Given the description of an element on the screen output the (x, y) to click on. 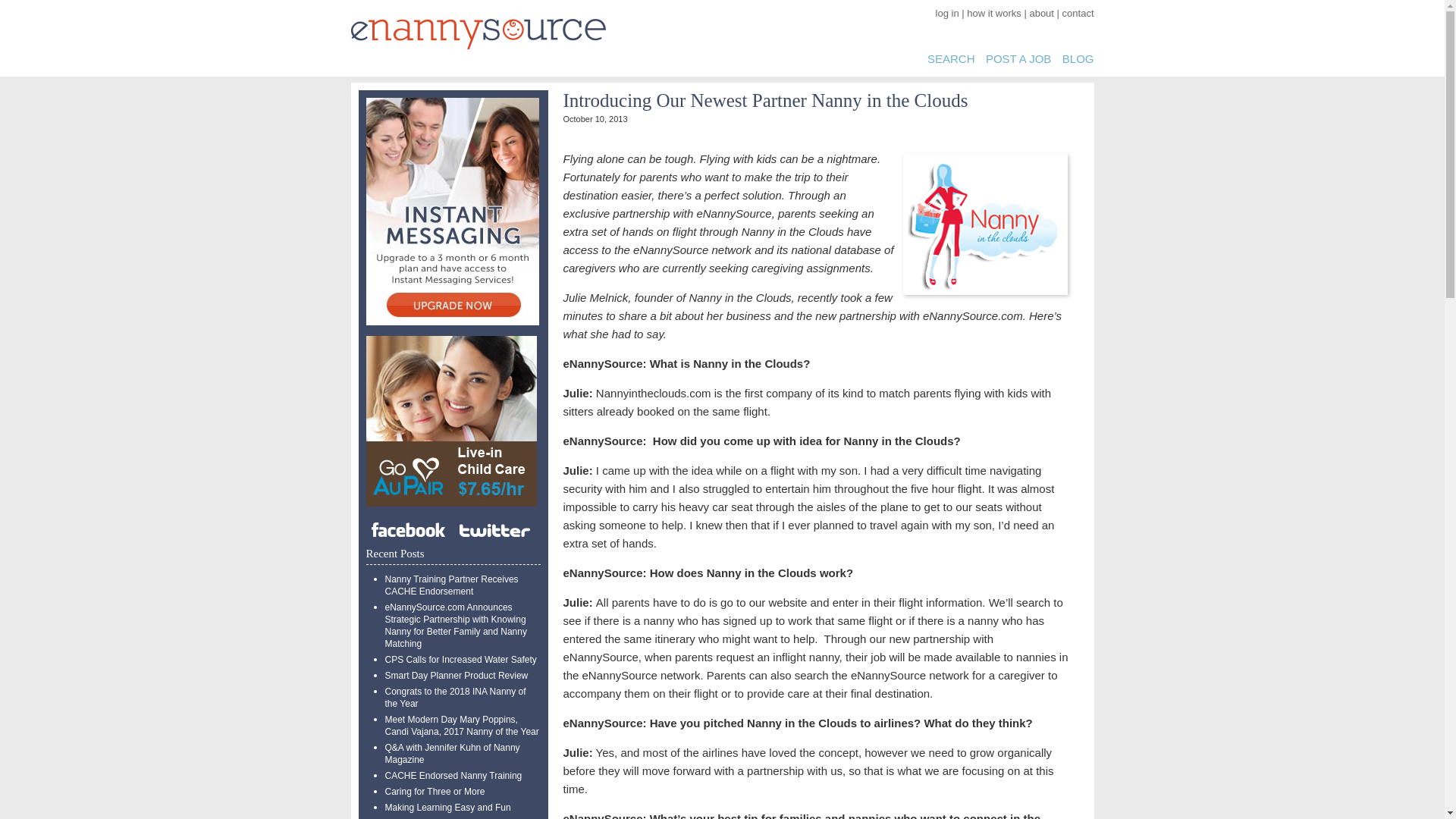
CPS Calls for Increased Water Safety (461, 659)
SEARCH (951, 58)
Caring for Three or More (434, 791)
contact (1078, 12)
Smart Day Planner Product Review (456, 675)
how it works (994, 12)
about (1041, 12)
Nanny Training Partner Receives CACHE Endorsement (451, 585)
BLOG (1078, 58)
